Given the description of an element on the screen output the (x, y) to click on. 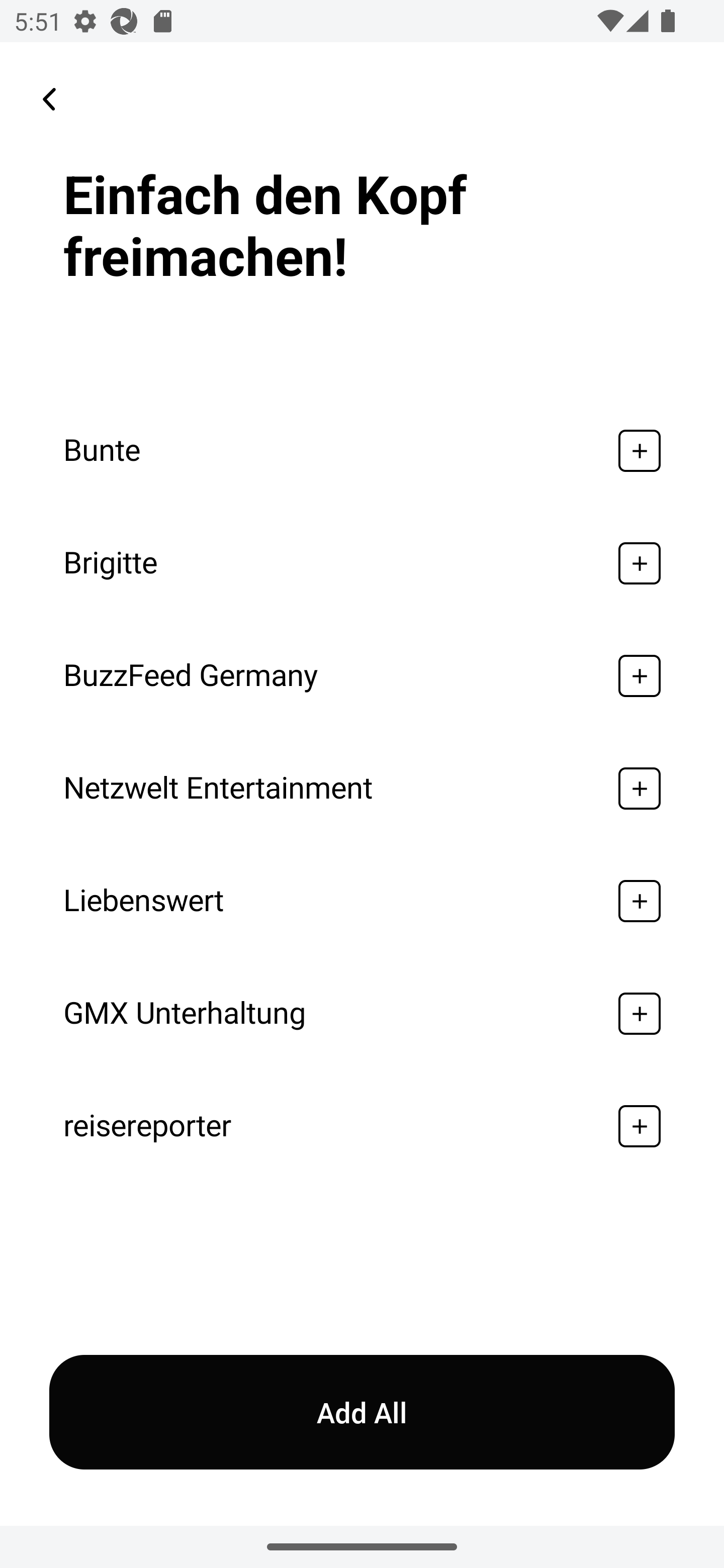
Leading Icon (49, 98)
Bunte Add To My Bundle (361, 450)
Add To My Bundle (639, 450)
Brigitte Add To My Bundle (361, 562)
Add To My Bundle (639, 562)
BuzzFeed Germany Add To My Bundle (361, 675)
Add To My Bundle (639, 675)
Netzwelt Entertainment Add To My Bundle (361, 788)
Add To My Bundle (639, 788)
Liebenswert Add To My Bundle (361, 901)
Add To My Bundle (639, 901)
GMX Unterhaltung Add To My Bundle (361, 1013)
Add To My Bundle (639, 1013)
reisereporter Add To My Bundle (361, 1125)
Add To My Bundle (639, 1125)
Add All (361, 1411)
